Given the description of an element on the screen output the (x, y) to click on. 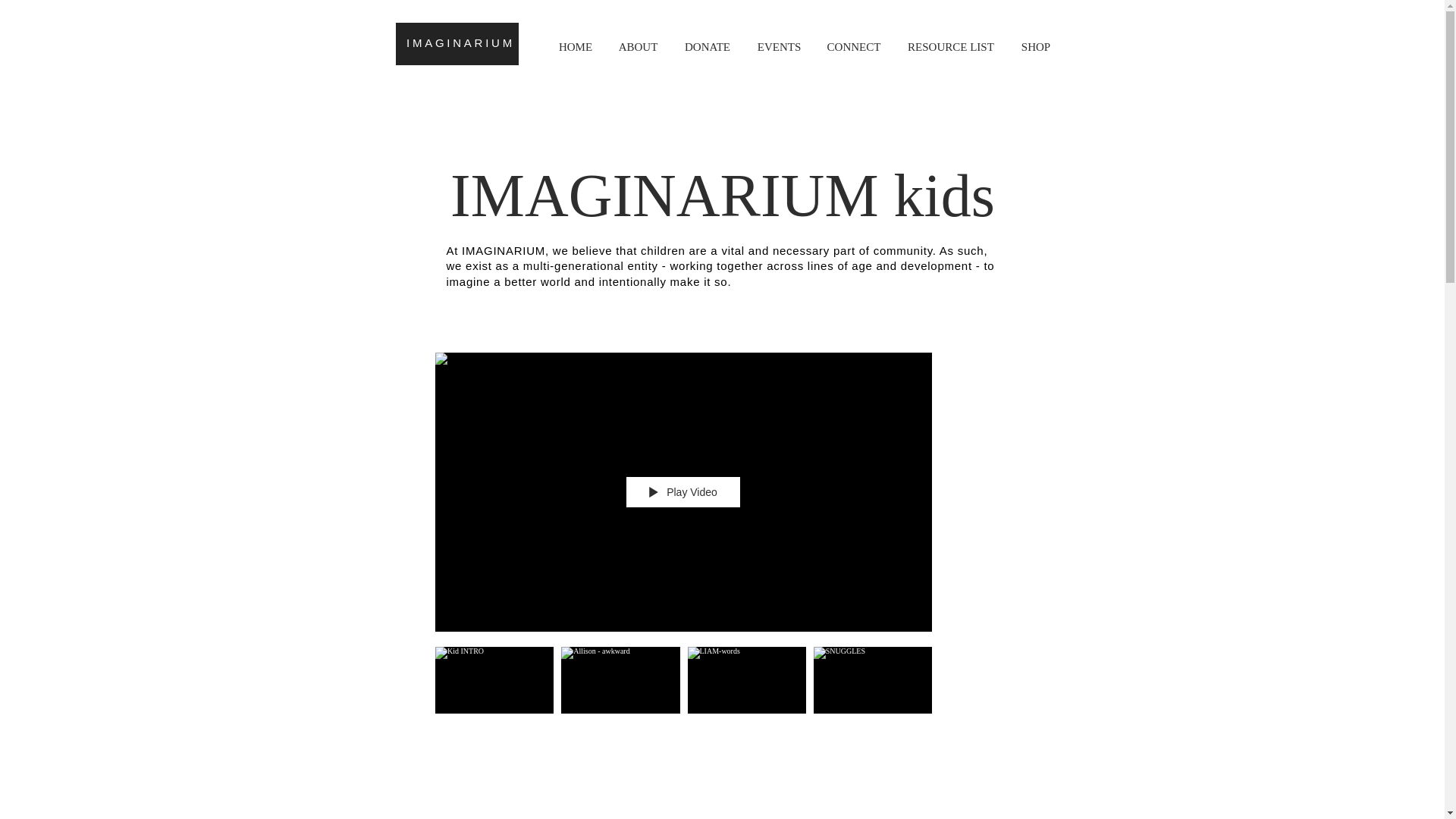
HOME (575, 46)
ABOUT (637, 46)
EVENTS (778, 46)
DONATE (706, 46)
IMAGINARIUM (460, 42)
CONNECT (853, 46)
RESOURCE LIST (950, 46)
Play Video (682, 491)
SHOP (1036, 46)
